Given the description of an element on the screen output the (x, y) to click on. 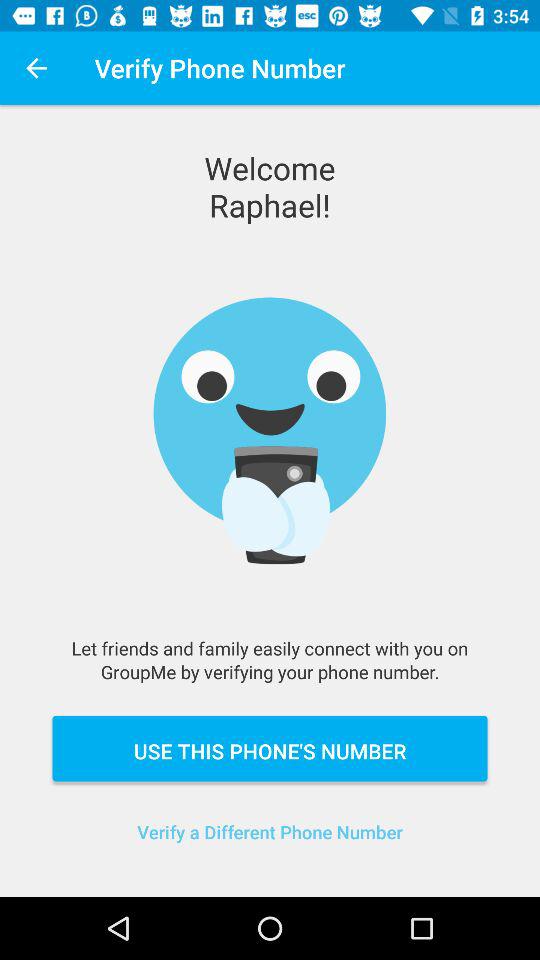
turn off icon below the use this phone item (270, 844)
